Given the description of an element on the screen output the (x, y) to click on. 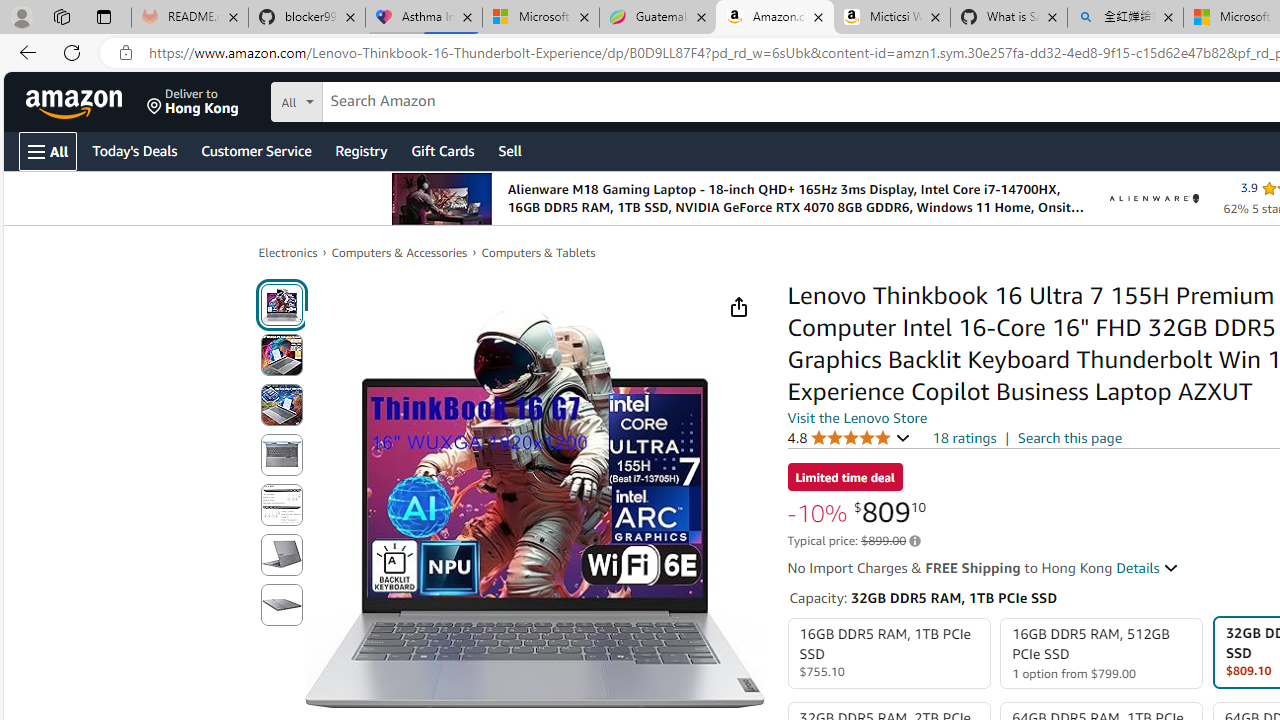
Computers & Tablets (538, 252)
16GB DDR5 RAM, 1TB PCIe SSD $755.10 (888, 653)
Computers & Accessories (399, 251)
Visit the Lenovo Store (857, 417)
Logo (1153, 198)
Computers & Tablets (538, 251)
Registry (360, 150)
Search in (371, 99)
